Given the description of an element on the screen output the (x, y) to click on. 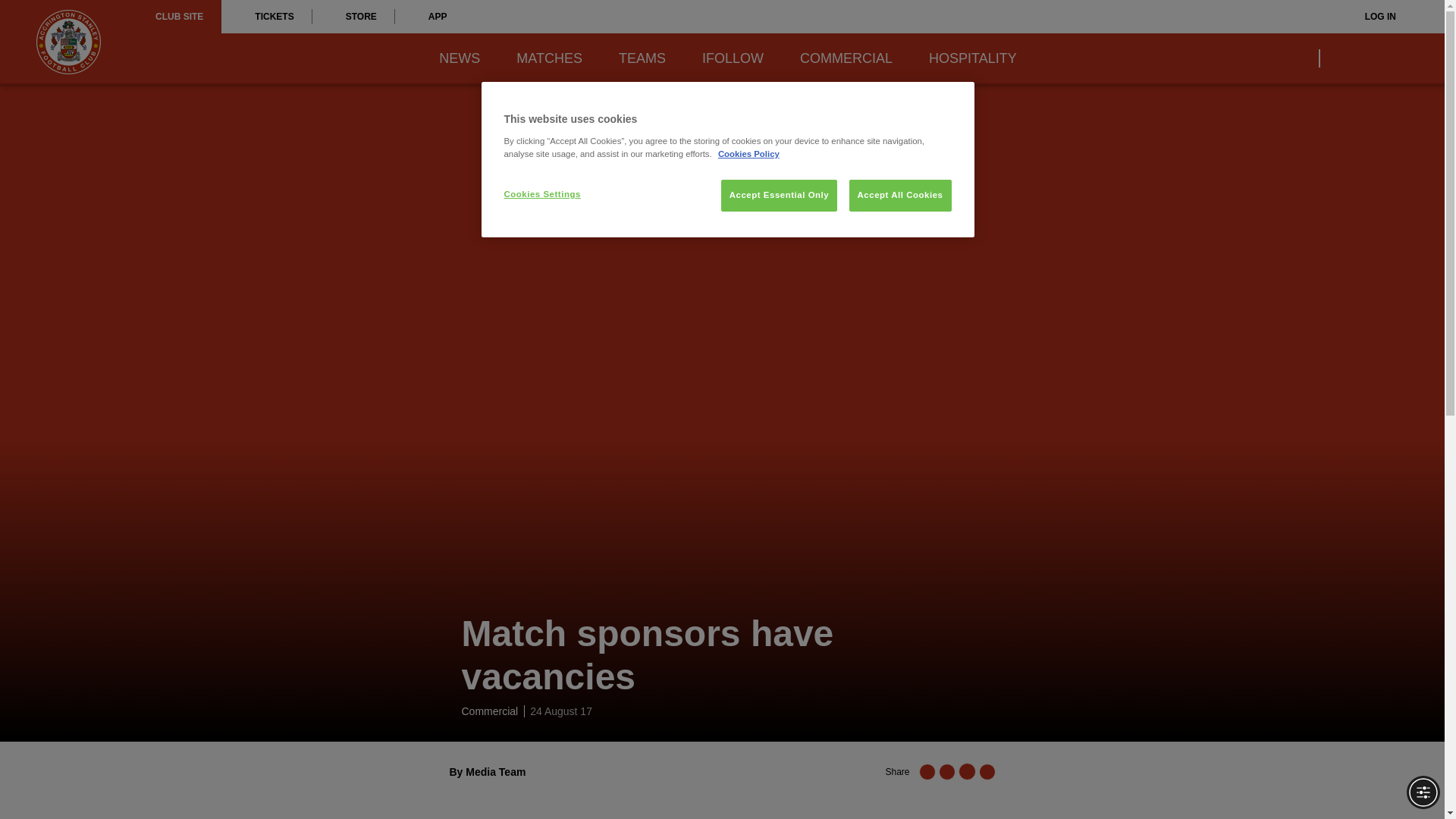
Accessibility Menu (1422, 792)
TICKETS (266, 16)
Help widget launcher (75, 781)
Cookies Policy (747, 153)
Cookies Settings (554, 194)
TEAMS (641, 58)
Accept Essential Only (778, 195)
IFOLLOW (731, 58)
CLUB SITE (178, 16)
HOSPITALITY (972, 58)
COMMERCIAL (845, 58)
MATCHES (549, 58)
APP (429, 16)
Accept All Cookies (900, 195)
STORE (353, 16)
